Given the description of an element on the screen output the (x, y) to click on. 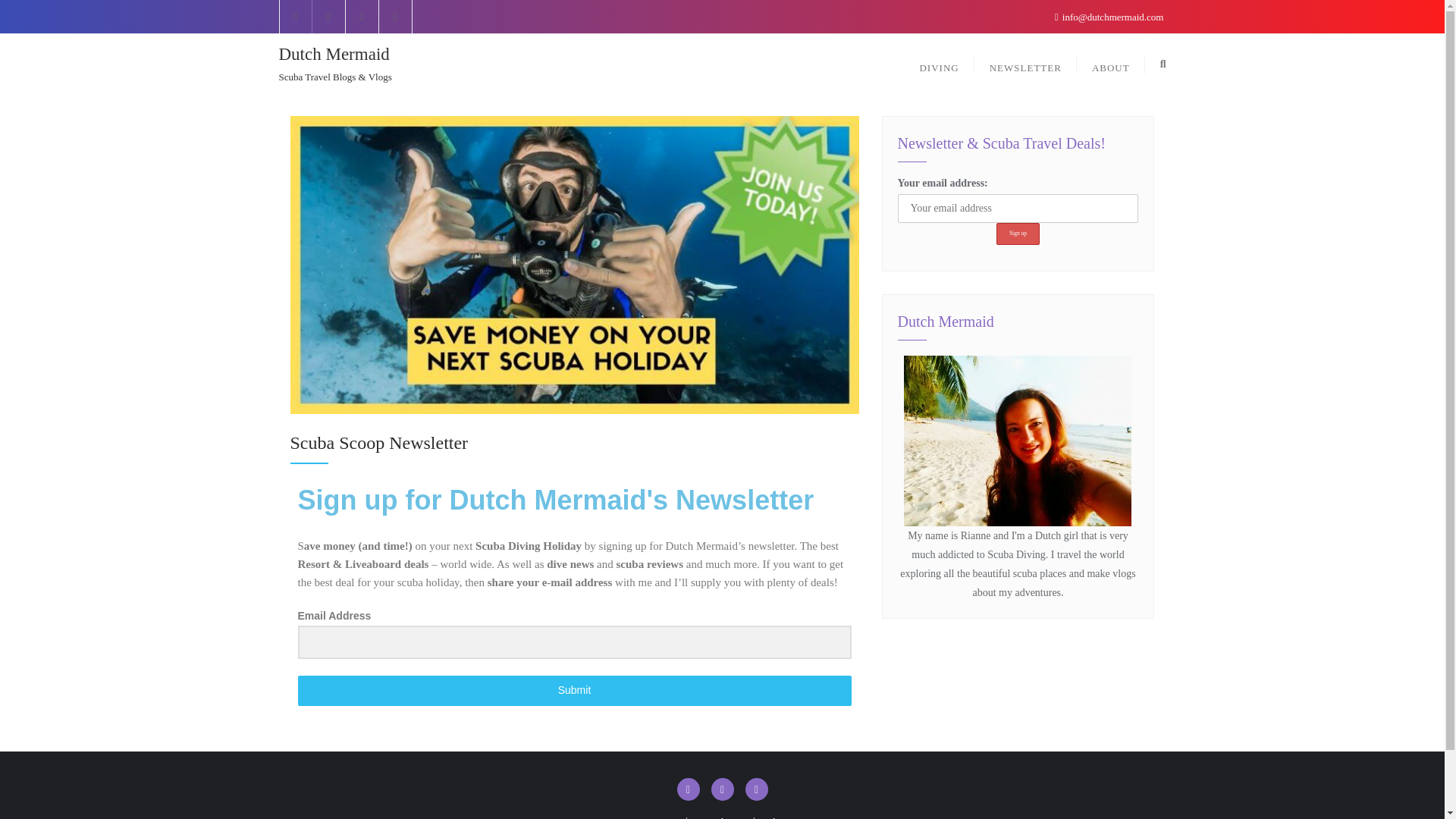
Sign up (1017, 233)
Submit (573, 690)
NEWSLETTER (1025, 63)
DIVING (939, 63)
Newsletter (719, 816)
Sign up (1017, 233)
ABOUT (1110, 63)
Diving (659, 816)
About (777, 816)
